Given the description of an element on the screen output the (x, y) to click on. 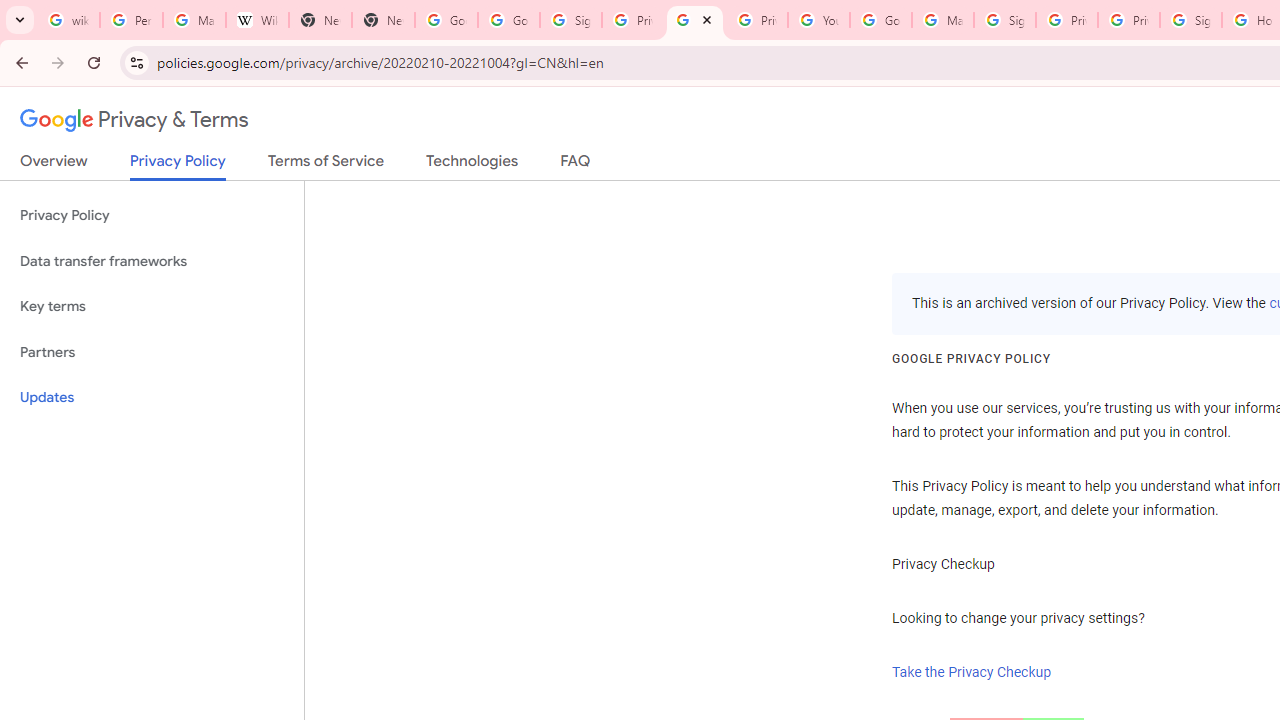
Technologies (472, 165)
New Tab (383, 20)
New Tab (320, 20)
Manage your Location History - Google Search Help (194, 20)
FAQ (575, 165)
Privacy Policy (152, 215)
Sign in - Google Accounts (1004, 20)
Key terms (152, 306)
